Given the description of an element on the screen output the (x, y) to click on. 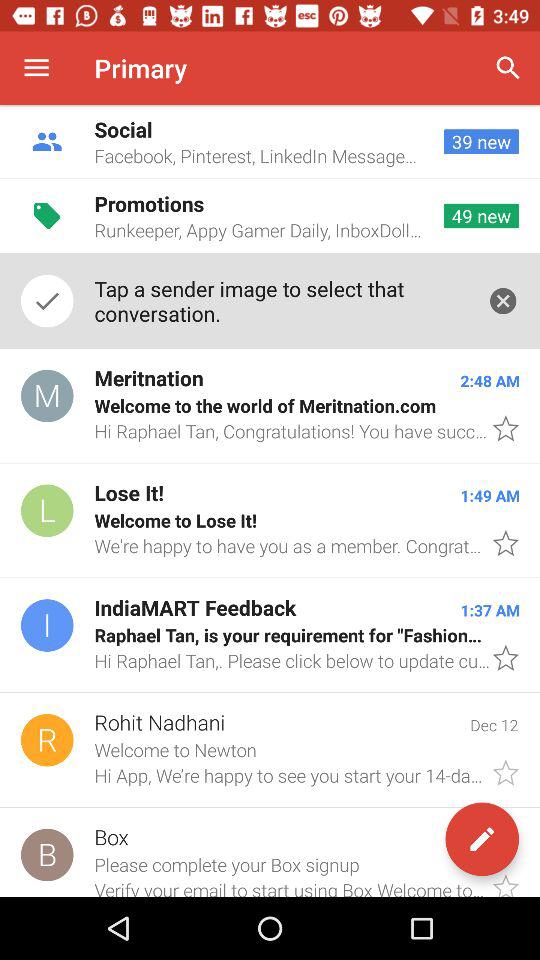
select icon next to the primary (36, 68)
